Given the description of an element on the screen output the (x, y) to click on. 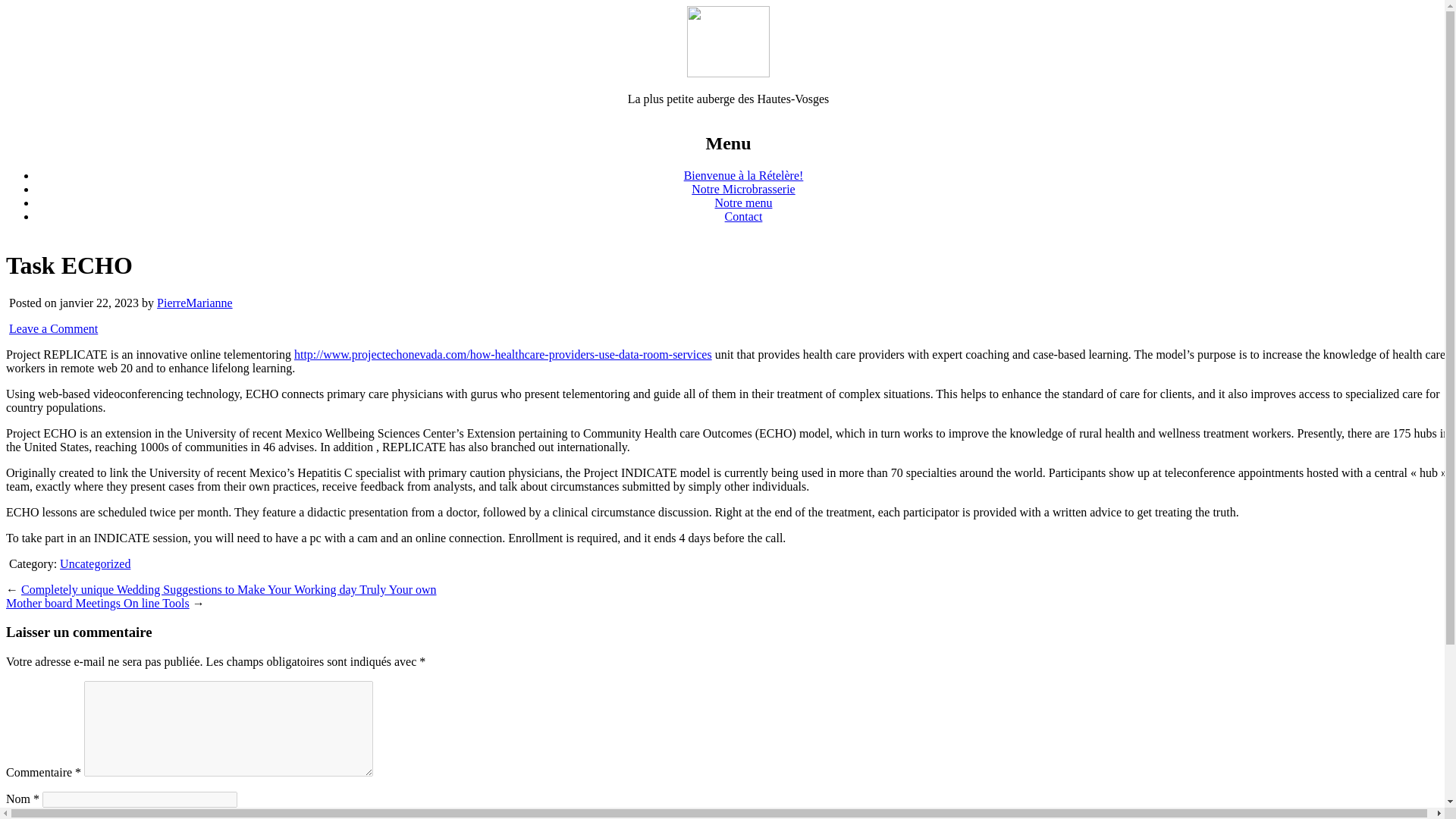
Articles par PierreMarianne (194, 302)
Uncategorized (95, 563)
PierreMarianne (194, 302)
Leave a Comment (52, 328)
Leave a Comment (52, 328)
Notre menu (742, 202)
Contact (743, 215)
Notre Microbrasserie (742, 188)
Mother board Meetings On line Tools (97, 603)
